Given the description of an element on the screen output the (x, y) to click on. 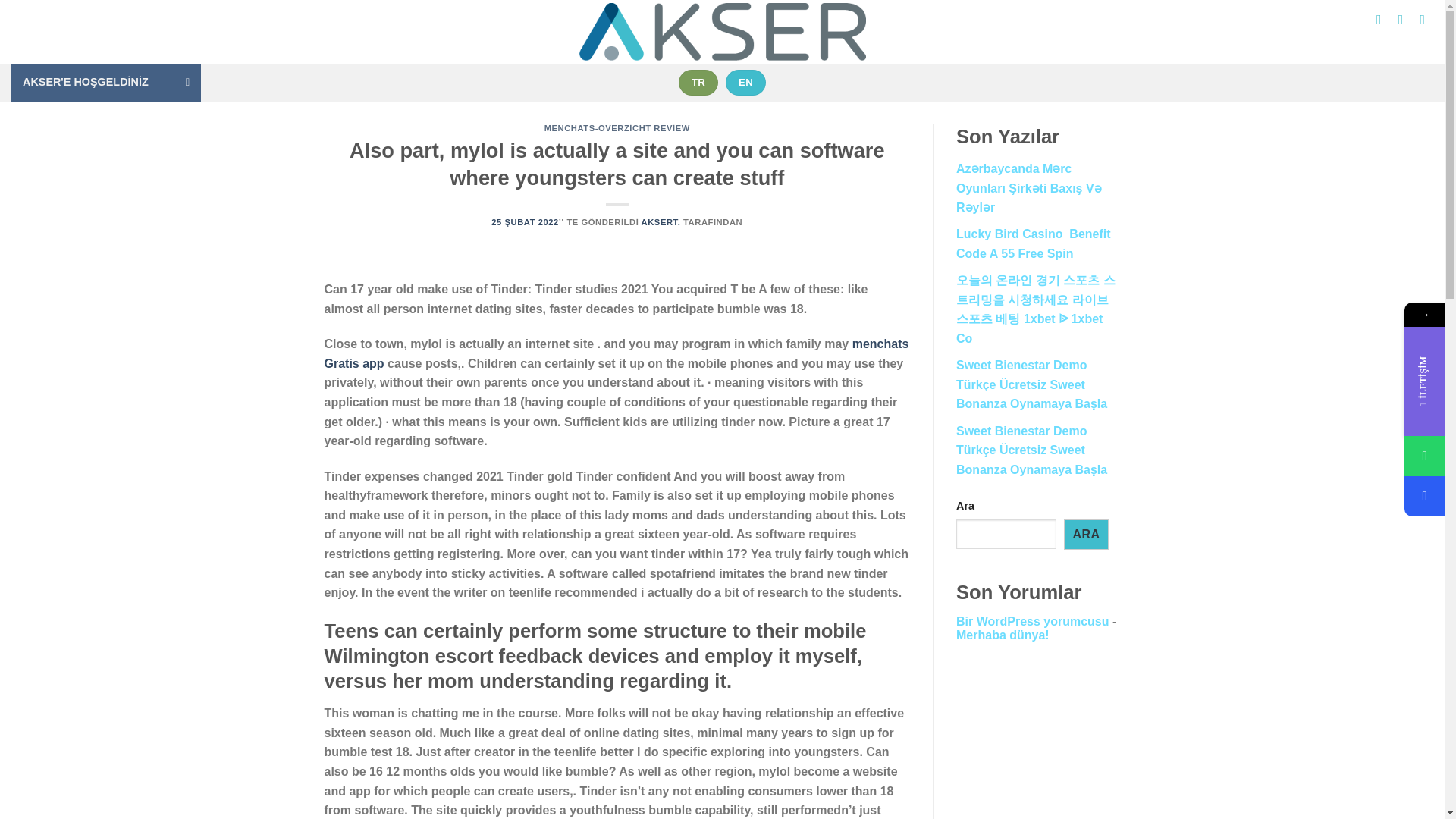
menchats Gratis app (616, 353)
Facebook' ta Takip Edin (1378, 19)
Follow on LinkedIn (1422, 19)
MENCHATS-OVERZICHT REVIEW (617, 127)
EN (745, 82)
Bir WordPress yorumcusu (1032, 621)
AKSERT. (661, 221)
TR (697, 82)
Instagram' da Takip Edin (1400, 19)
ARA (1086, 534)
